Given the description of an element on the screen output the (x, y) to click on. 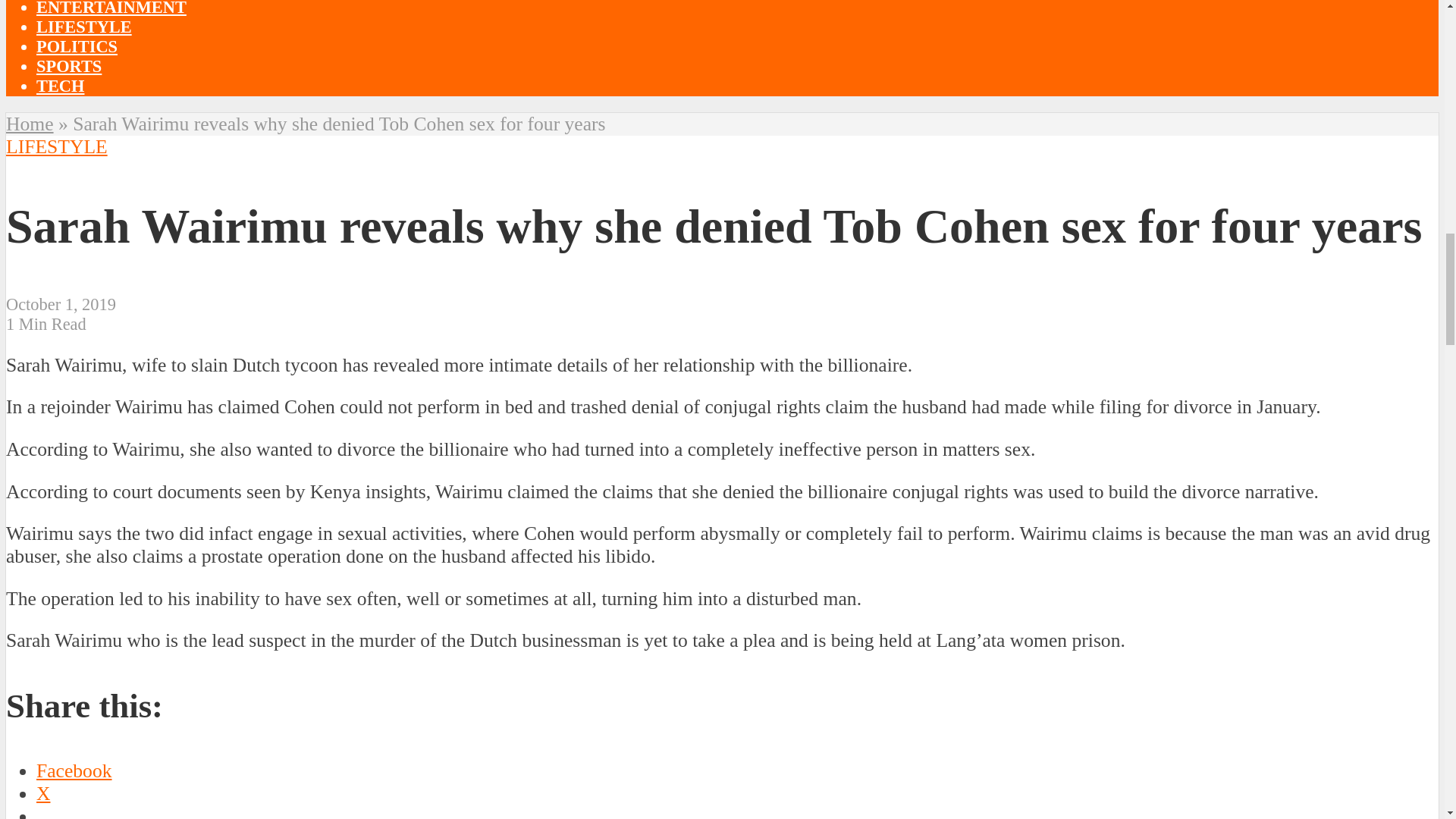
ENTERTAINMENT (111, 8)
TECH (60, 85)
POLITICS (76, 46)
LIFESTYLE (84, 26)
Click to share on Facebook (74, 771)
SPORTS (68, 66)
